Given the description of an element on the screen output the (x, y) to click on. 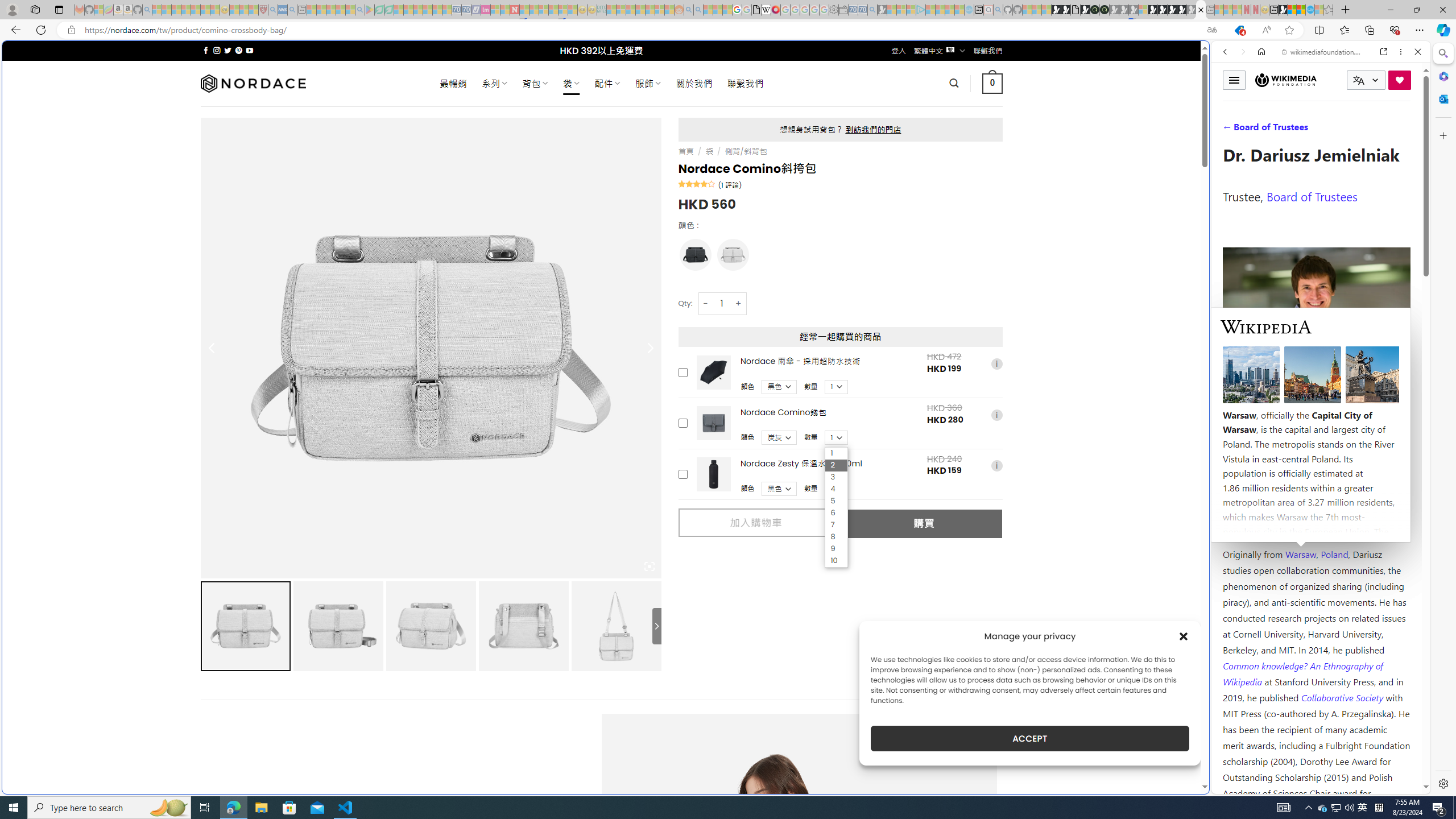
2 (836, 465)
Warsaw (1300, 554)
i (996, 465)
